Given the description of an element on the screen output the (x, y) to click on. 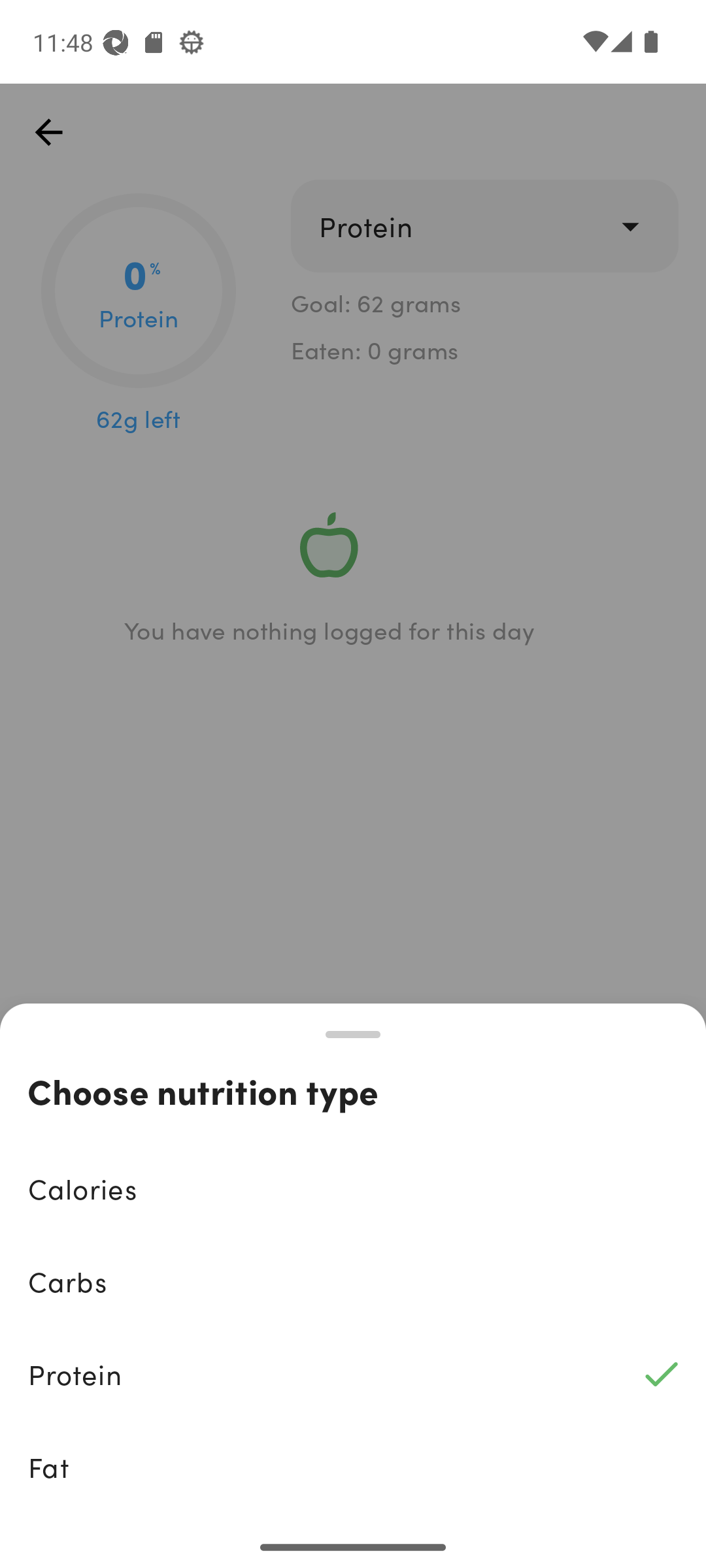
bottom_sheet_option Carbs bottom_sheet_option_text (353, 1281)
bottom_sheet_option Fat bottom_sheet_option_text (353, 1466)
